Given the description of an element on the screen output the (x, y) to click on. 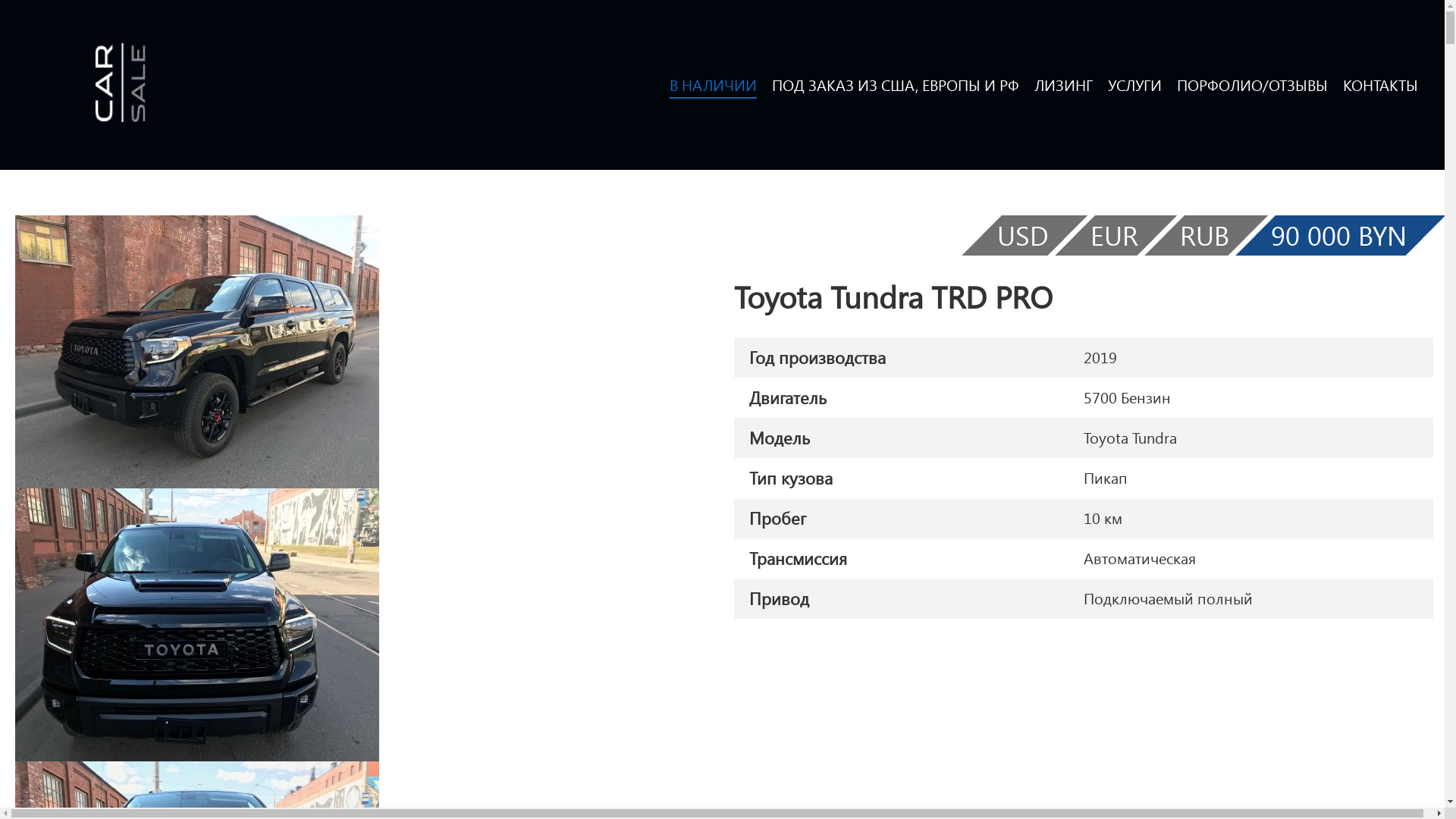
Toyota Tundra TRD PRO Element type: hover (197, 624)
Toyota Tundra TRD PRO Element type: hover (197, 351)
